Given the description of an element on the screen output the (x, y) to click on. 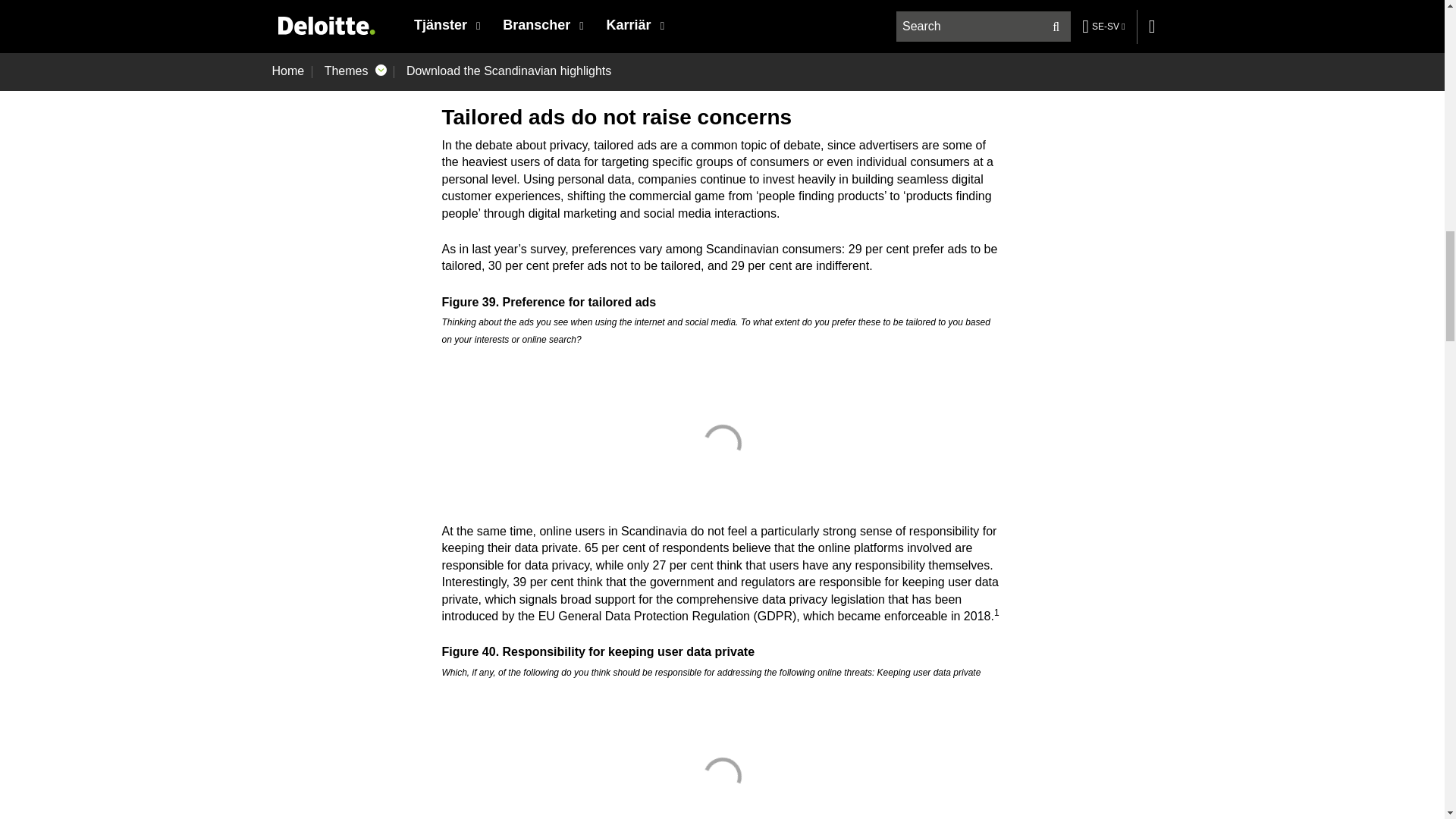
4.40 - Responsibility for keeping user data private (722, 773)
4.39 - Preference for tailored ads (722, 443)
